Given the description of an element on the screen output the (x, y) to click on. 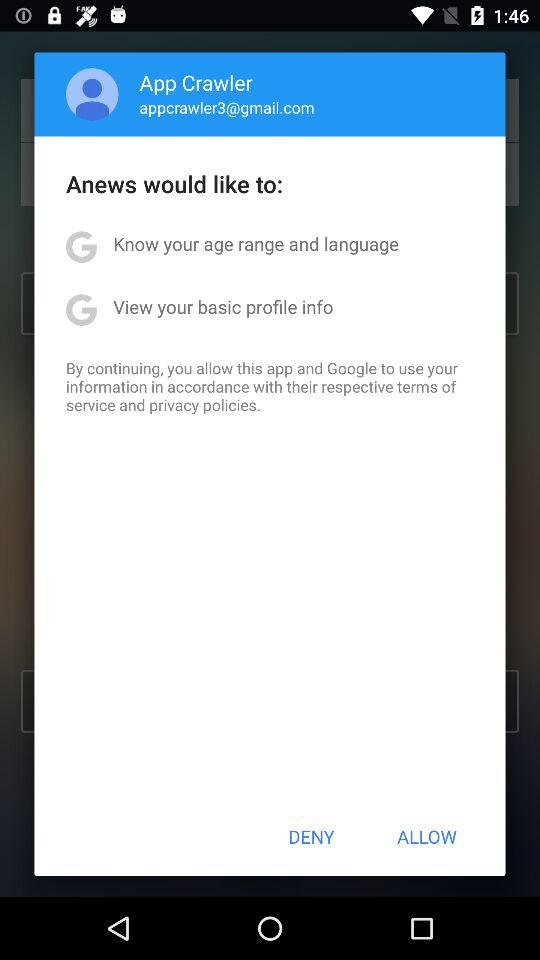
turn on button to the left of allow button (311, 836)
